Given the description of an element on the screen output the (x, y) to click on. 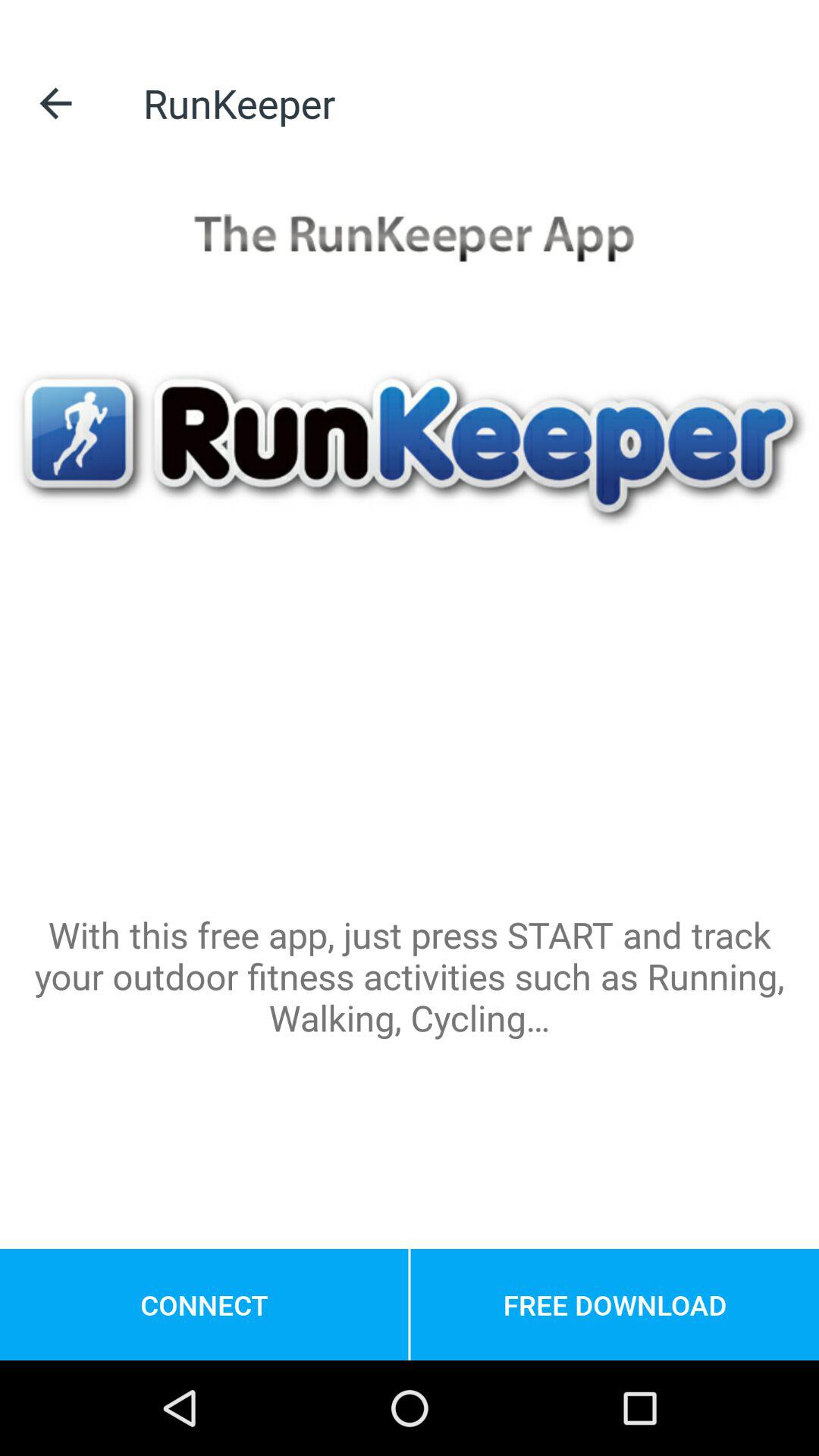
go back (55, 103)
